Given the description of an element on the screen output the (x, y) to click on. 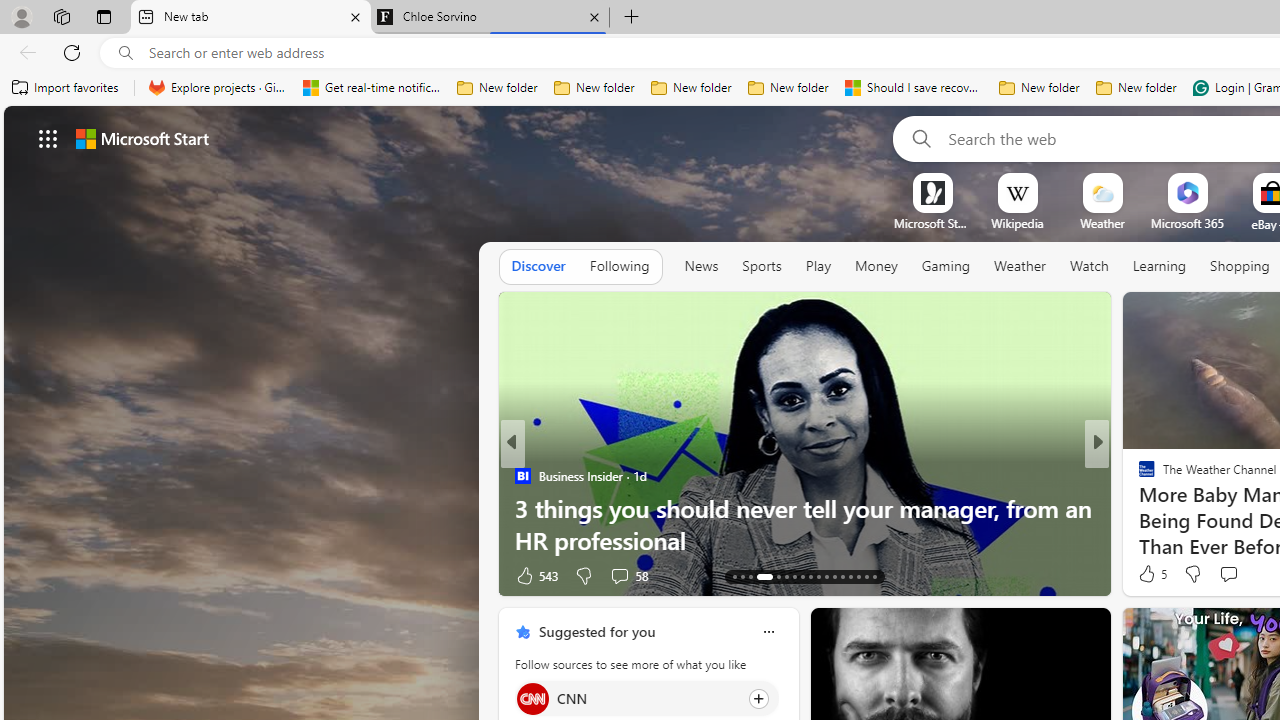
16 Like (1149, 574)
Weather (1019, 267)
Climate Crisis 247 (1138, 475)
View comments 7 Comment (1234, 574)
View comments 6 Comment (1241, 574)
Nordace.com (1165, 507)
Play (818, 267)
View comments 25 Comment (1237, 574)
View comments 19 Comment (1234, 575)
AutomationID: tab-22 (818, 576)
View comments 1 Comment (1229, 575)
AutomationID: tab-18 (786, 576)
Microsoft start (142, 138)
